Given the description of an element on the screen output the (x, y) to click on. 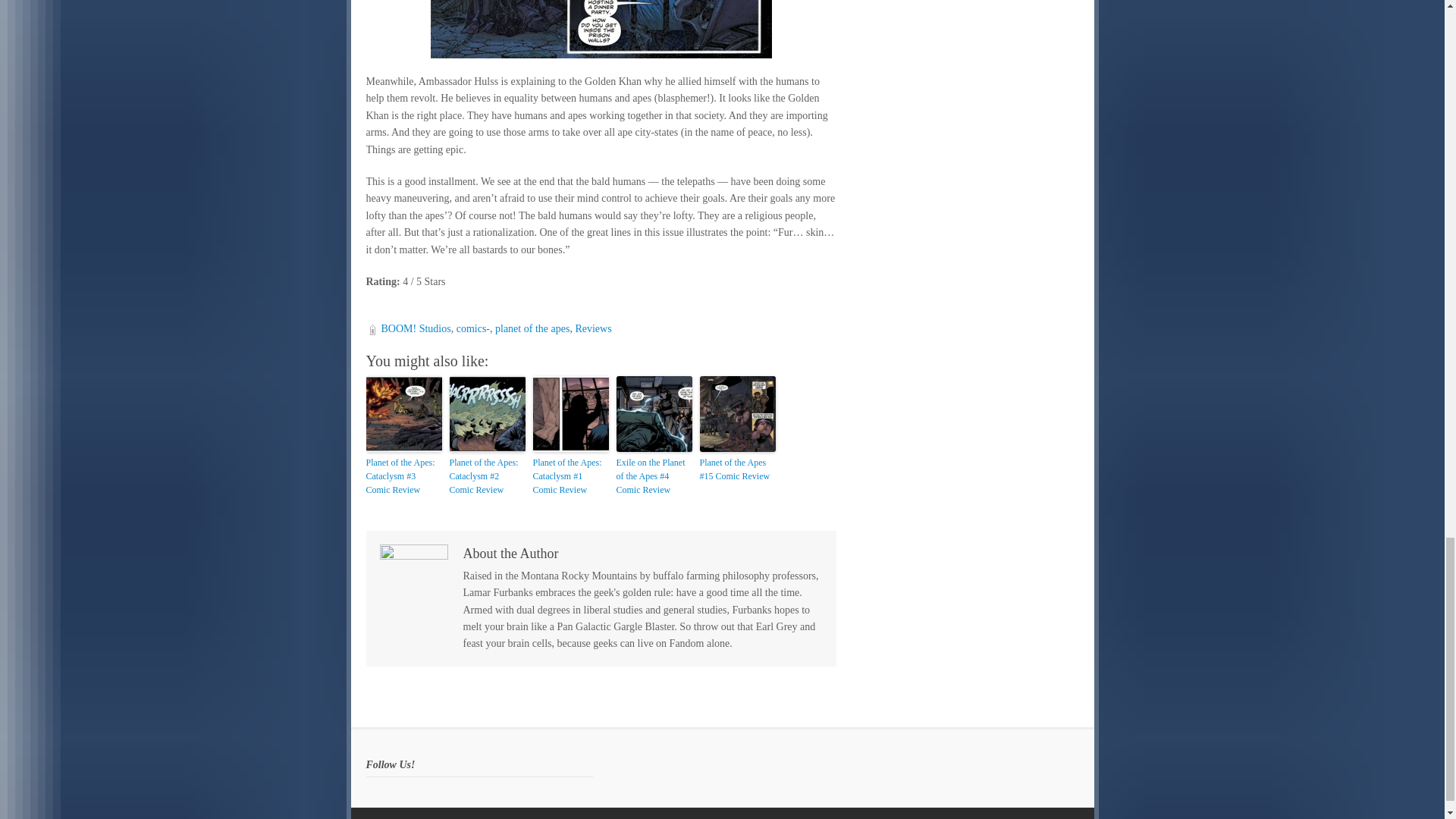
planetoftheapes16-3 (600, 29)
comics- (473, 328)
planet of the apes (532, 328)
Reviews (593, 328)
BOOM! Studios (414, 328)
